Given the description of an element on the screen output the (x, y) to click on. 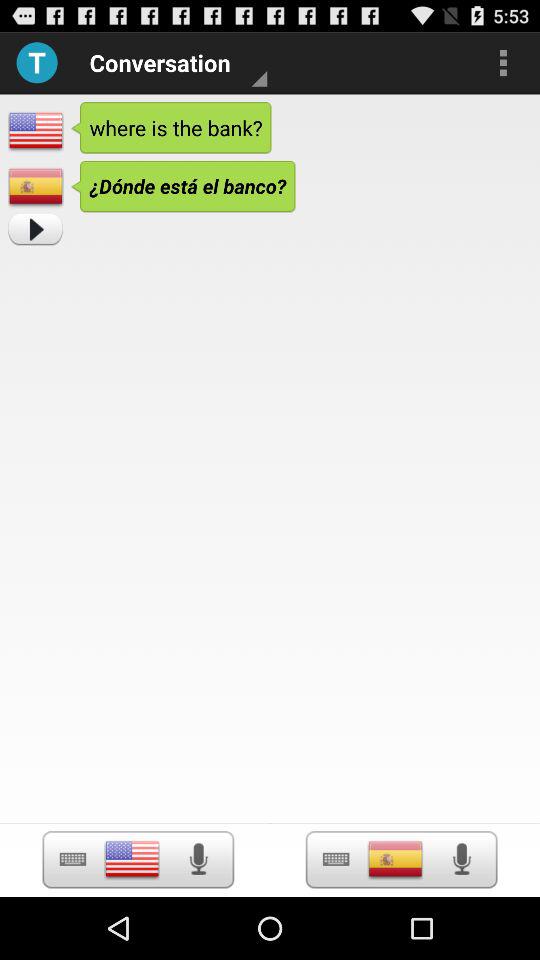
play translation (35, 229)
